Given the description of an element on the screen output the (x, y) to click on. 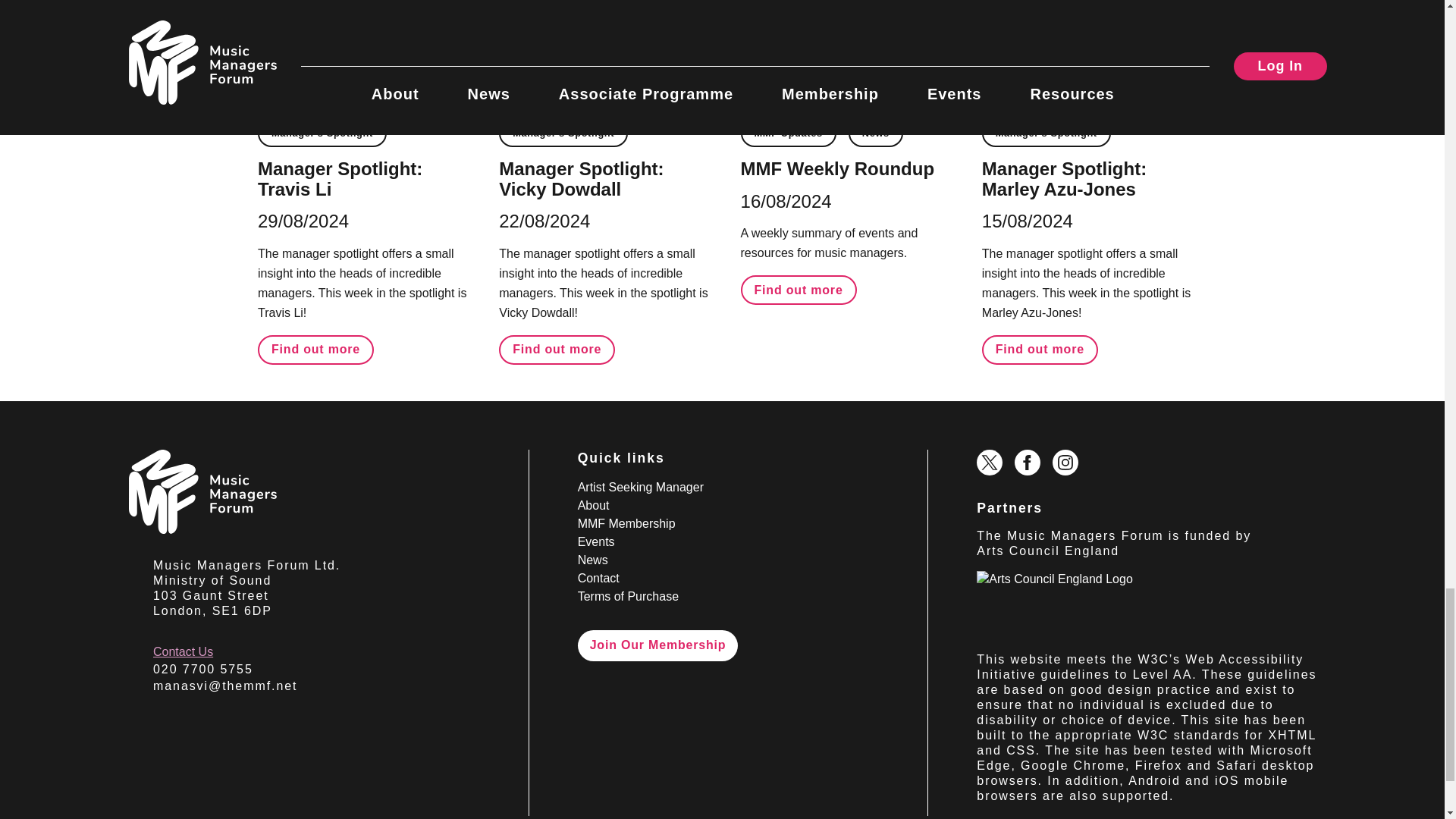
News (875, 133)
Find out more (1039, 349)
Manager's Spotlight (1045, 133)
Find out more (315, 349)
Find out more (799, 289)
MMF Updates (788, 133)
Manager's Spotlight (563, 133)
020 7700 5755 (202, 668)
Manager's Spotlight (322, 133)
Contact Us (182, 651)
